Given the description of an element on the screen output the (x, y) to click on. 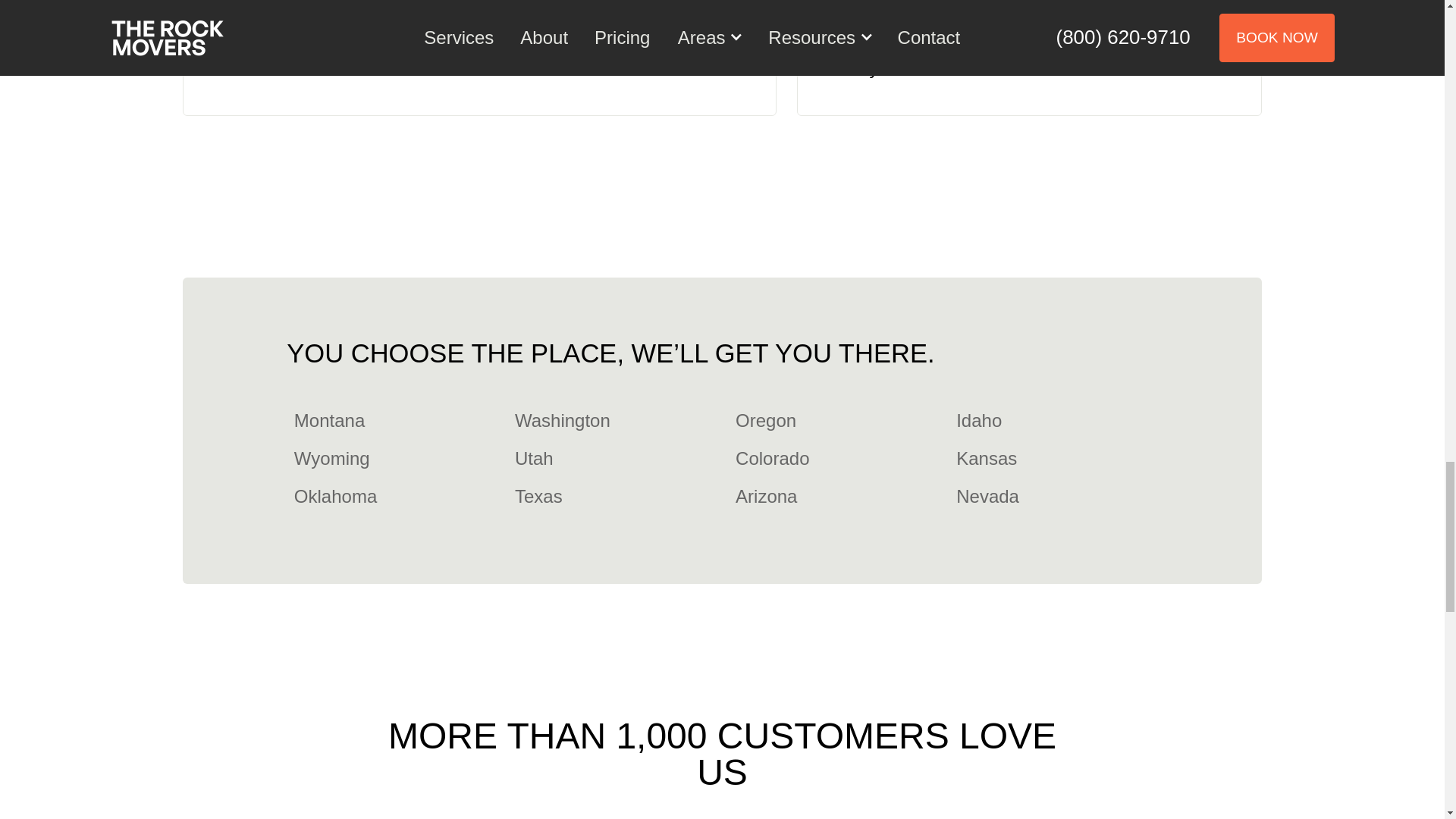
Kansas (983, 458)
Wyoming (327, 458)
Oregon (762, 420)
Montana (325, 420)
Arizona (762, 496)
a custom quote (929, 42)
Utah (529, 458)
Oklahoma (331, 496)
Colorado (768, 458)
Washington (558, 420)
